Given the description of an element on the screen output the (x, y) to click on. 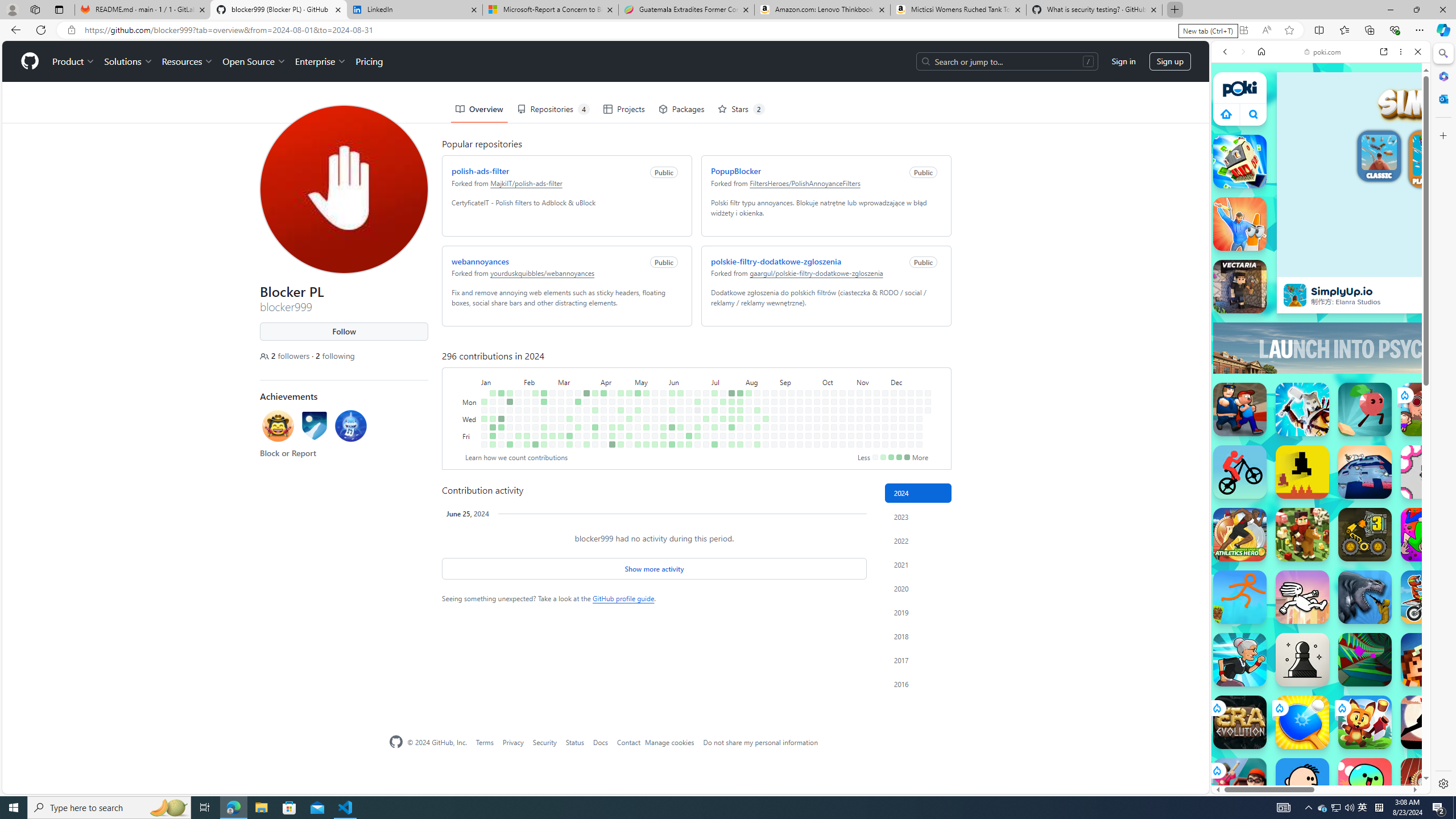
No contributions on September 25th. (807, 418)
Manage cookies (669, 741)
No contributions on December 22nd. (919, 392)
App available. Install GitHub (1243, 29)
No contributions on July 14th. (723, 392)
No contributions on November 2nd. (850, 444)
No contributions on October 20th. (842, 392)
No contributions on September 5th. (783, 427)
No contributions on October 14th. (834, 401)
Lurkers.io Lurkers.io (1427, 659)
Combat Reloaded (1348, 574)
6 contributions on May 5th. (637, 392)
March (577, 380)
